Given the description of an element on the screen output the (x, y) to click on. 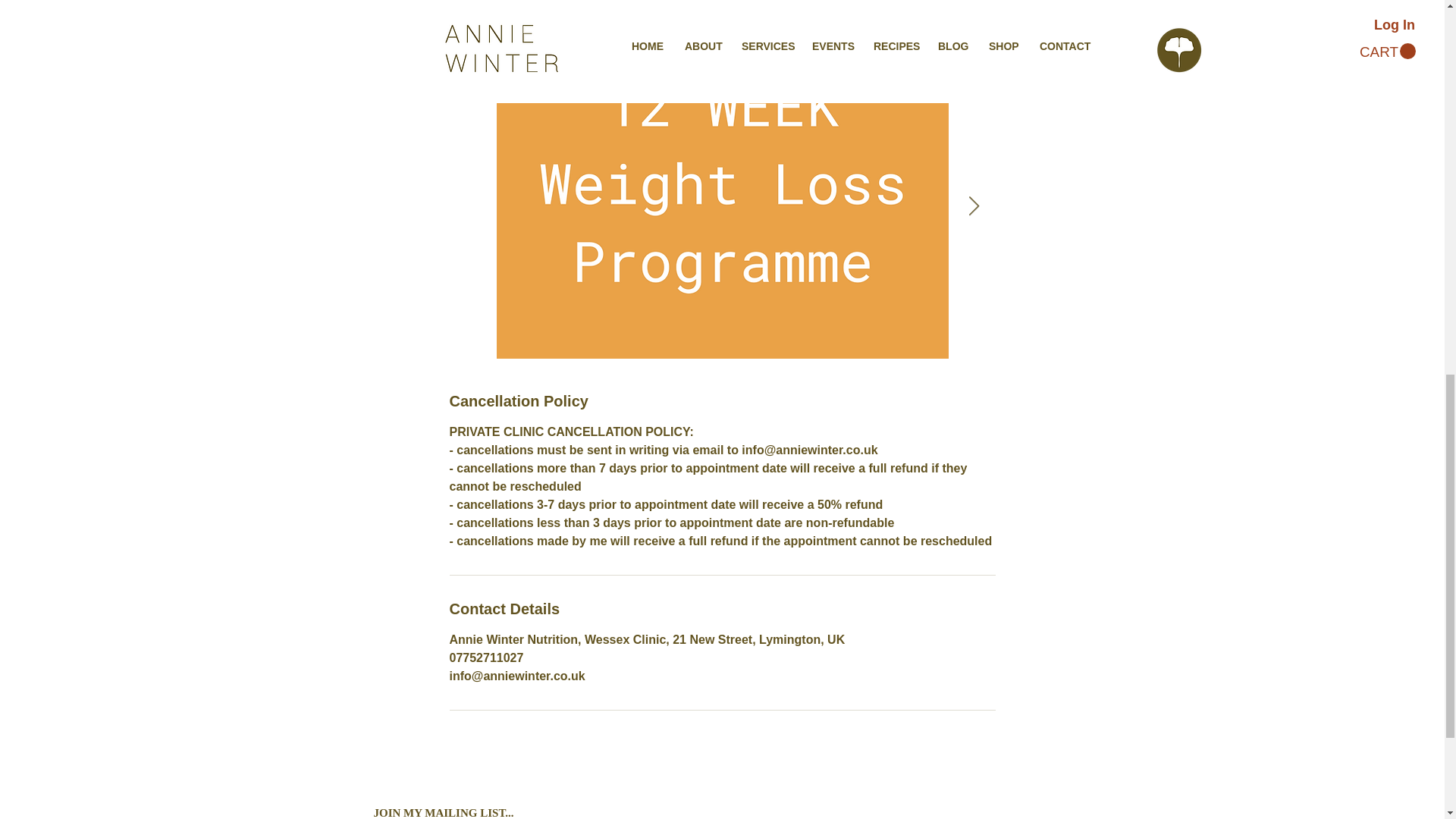
Book Now (498, 11)
